Given the description of an element on the screen output the (x, y) to click on. 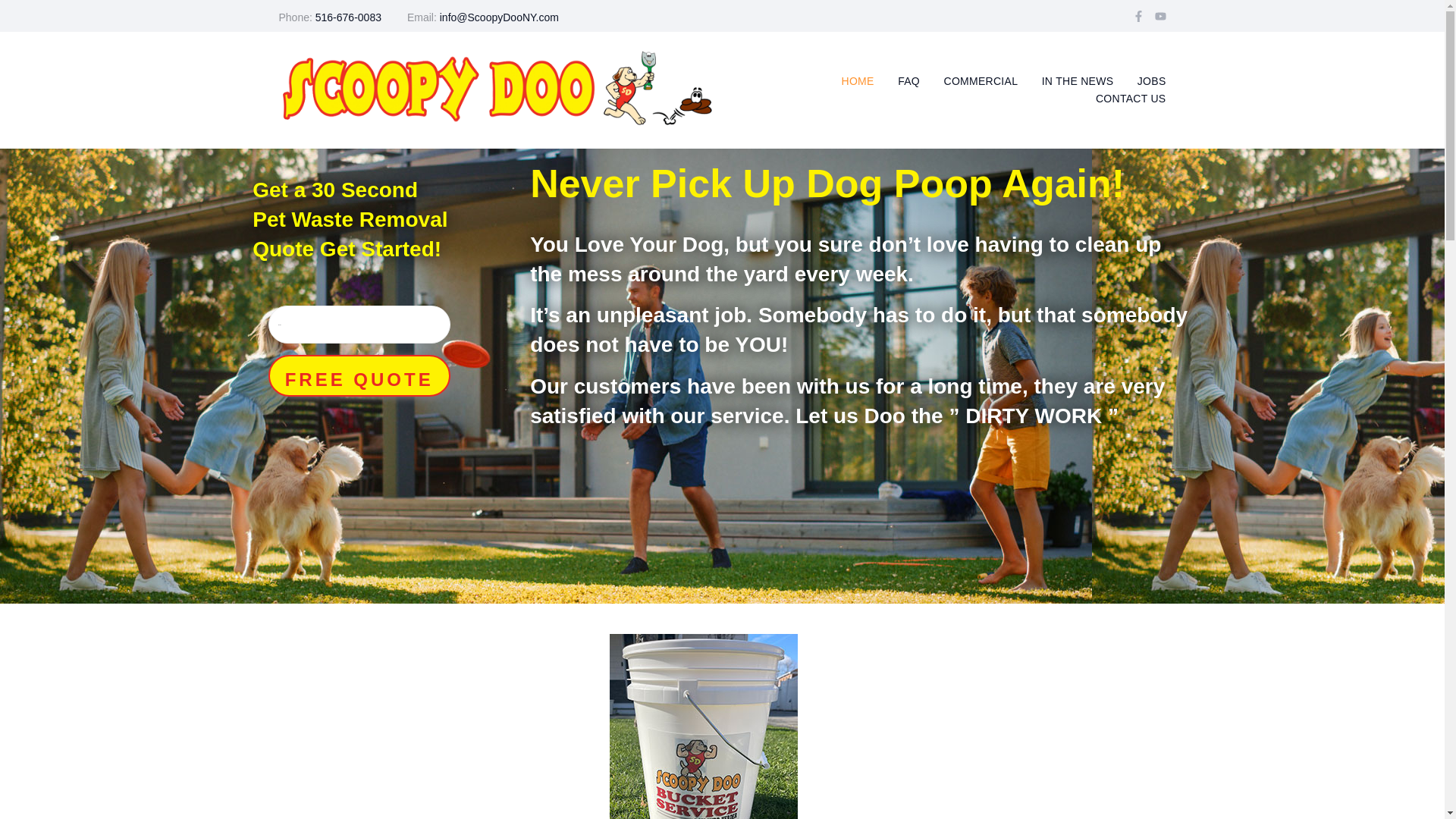
IN THE NEWS (1077, 81)
JOBS (1151, 81)
FREE QUOTE (358, 375)
HOME (858, 81)
COMMERCIAL (980, 81)
CONTACT US (1131, 98)
516-676-0083 (348, 17)
FAQ (909, 81)
